Given the description of an element on the screen output the (x, y) to click on. 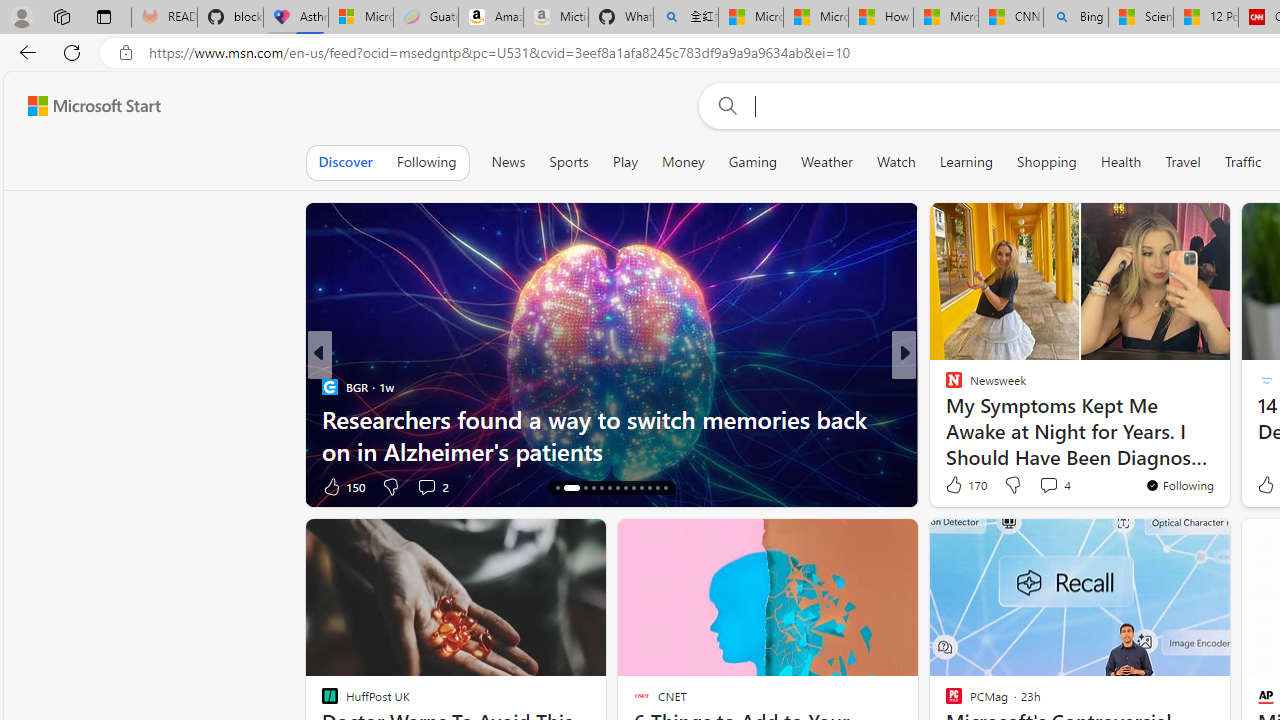
AutomationID: tab-26 (664, 487)
View comments 231 Comment (1048, 486)
View comments 4 Comment (1054, 484)
View comments 5 Comment (1036, 485)
View comments 5 Comment (1041, 486)
170 Like (964, 484)
121 Like (959, 486)
Million Dollar Sense (944, 418)
AutomationID: tab-23 (641, 487)
View comments 34 Comment (1051, 486)
Pocket-lint (944, 418)
